Given the description of an element on the screen output the (x, y) to click on. 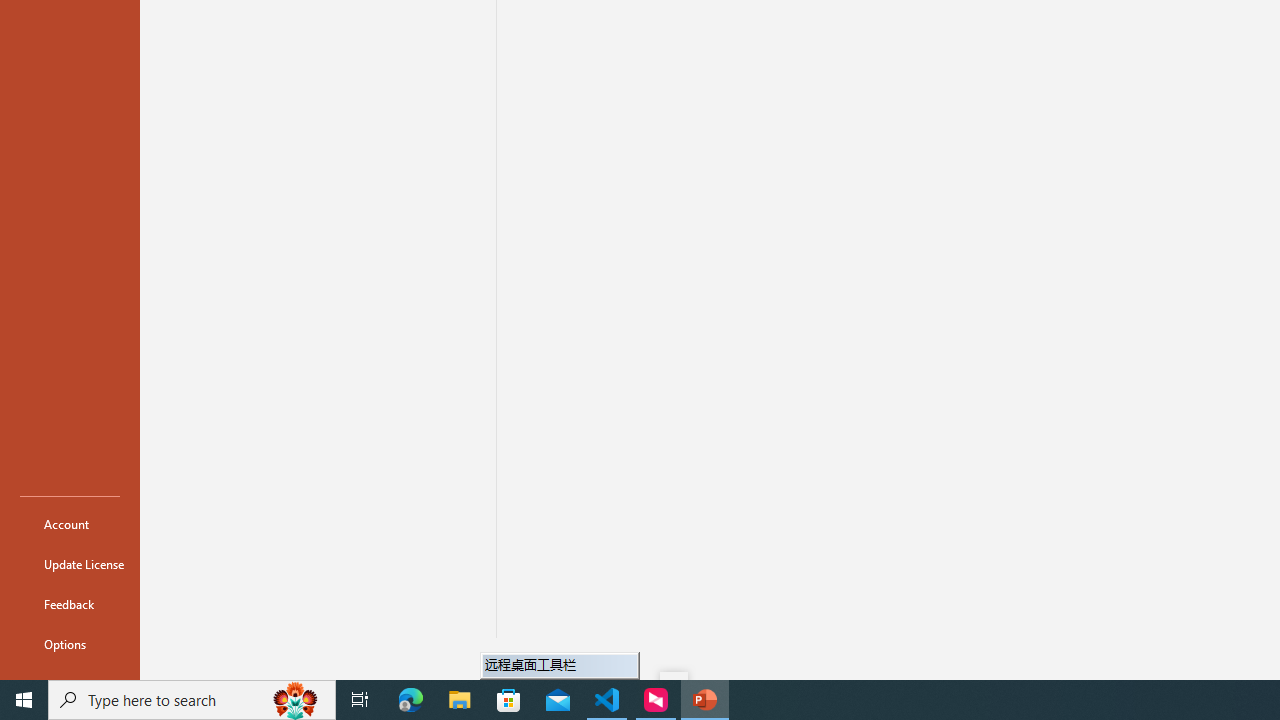
Options (69, 643)
Feedback (69, 603)
Update License (69, 563)
Account (69, 523)
